Given the description of an element on the screen output the (x, y) to click on. 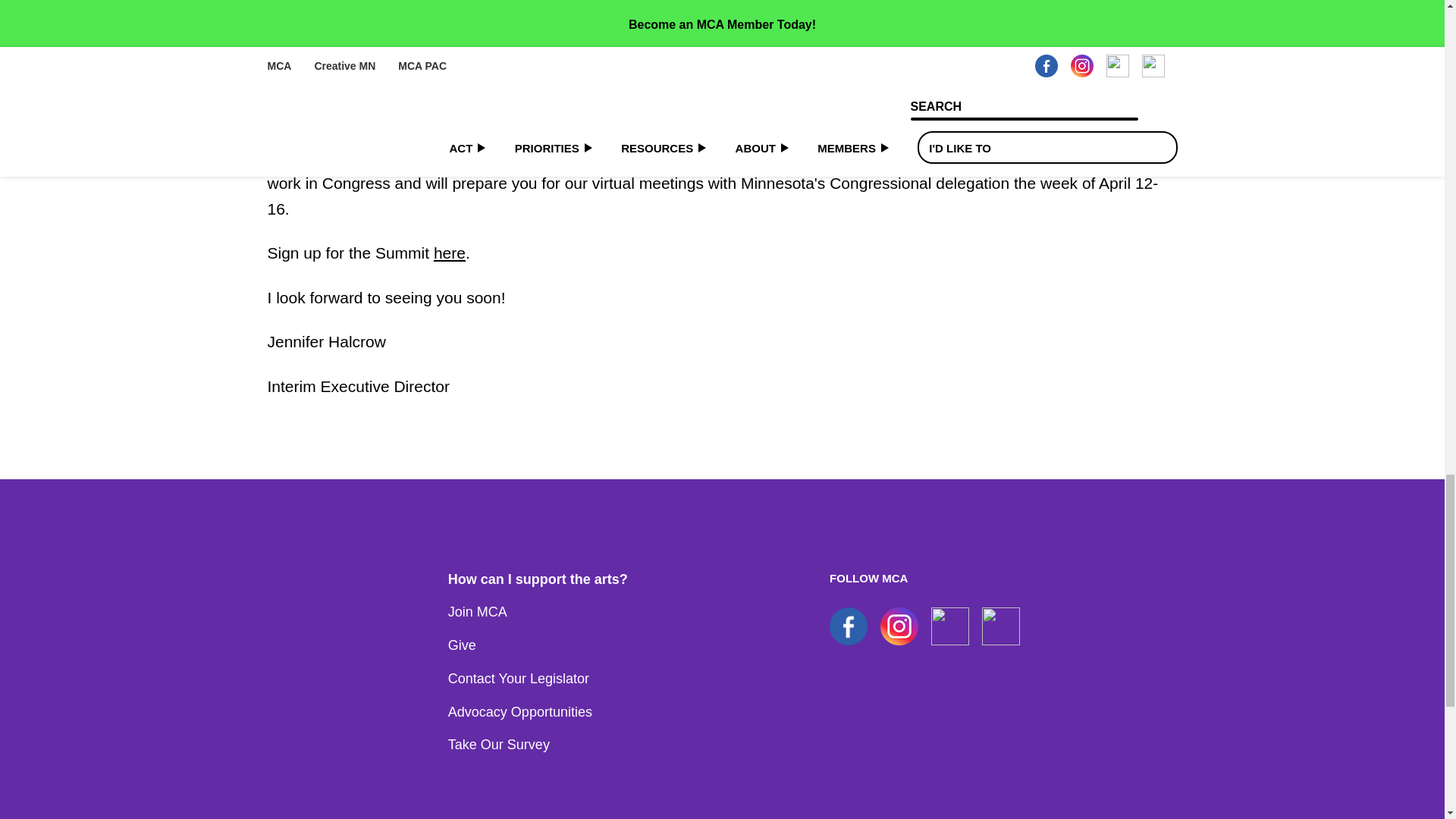
Instagram (899, 626)
Twitter (1000, 626)
YouTube (950, 626)
Facebook (848, 626)
